Given the description of an element on the screen output the (x, y) to click on. 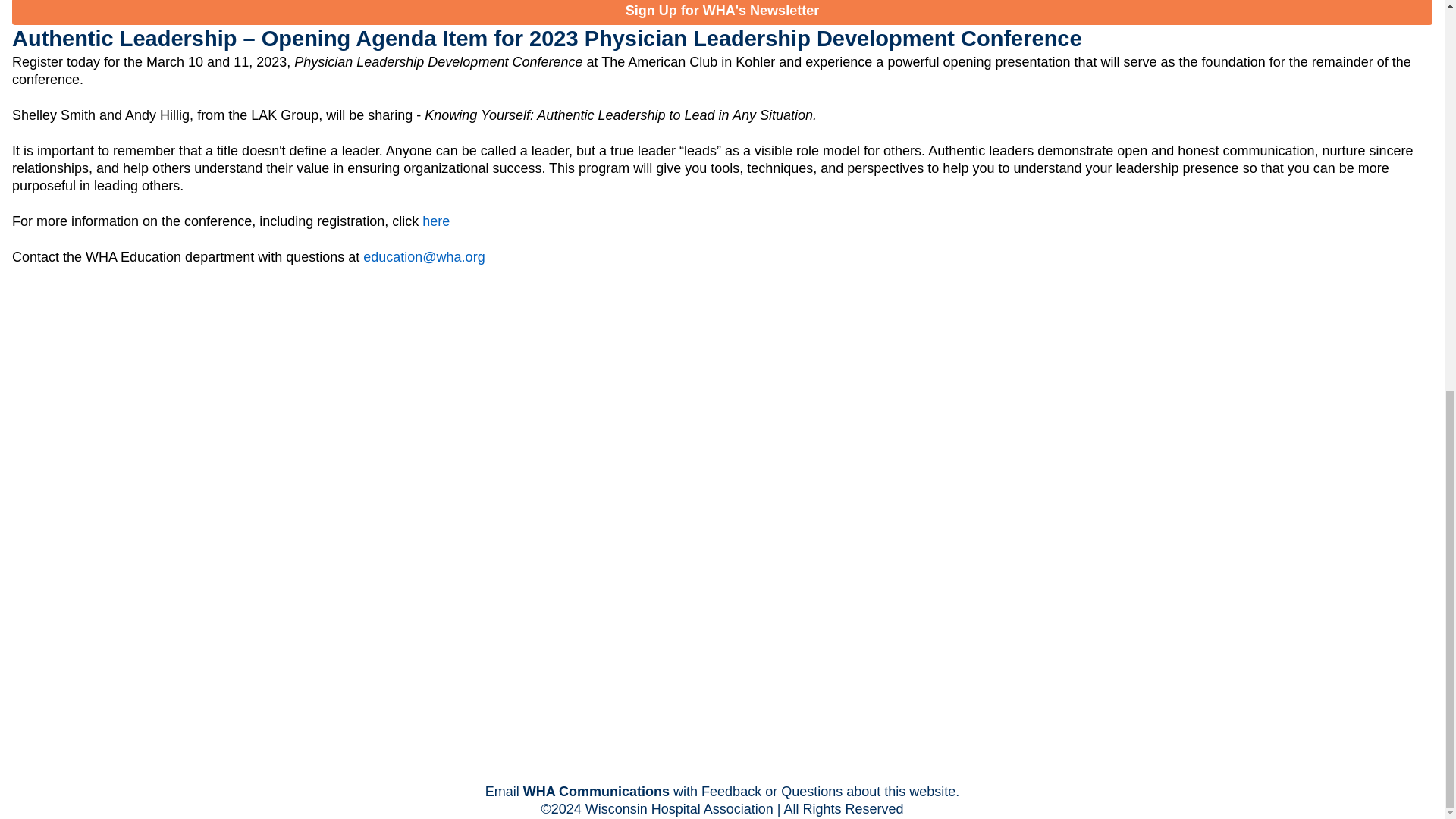
Sign Up for WHA's Newsletter (721, 12)
WHA Communications (595, 791)
here (435, 221)
